Given the description of an element on the screen output the (x, y) to click on. 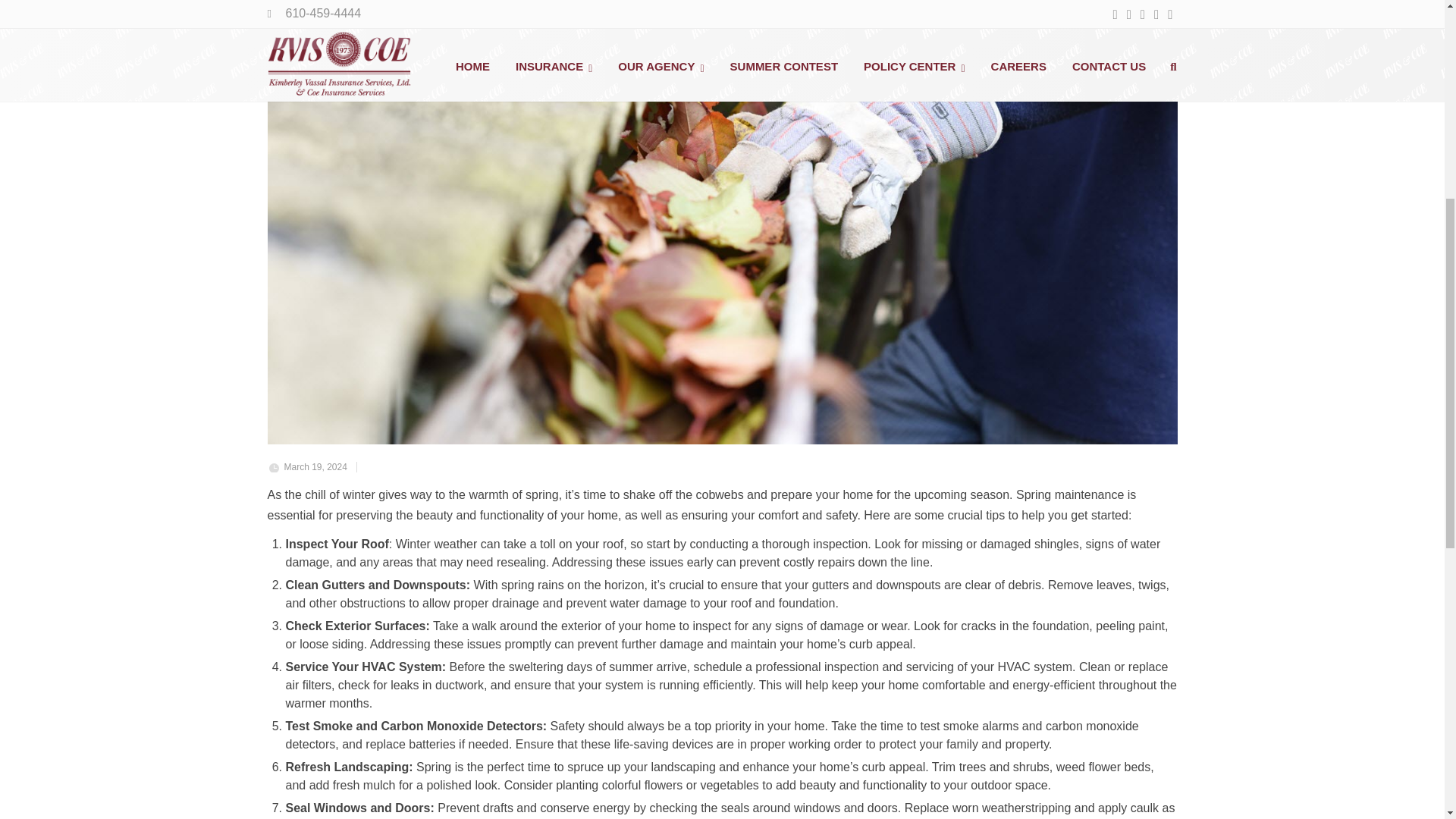
Opens a widget where you can chat to one of our agents (1386, 351)
